Given the description of an element on the screen output the (x, y) to click on. 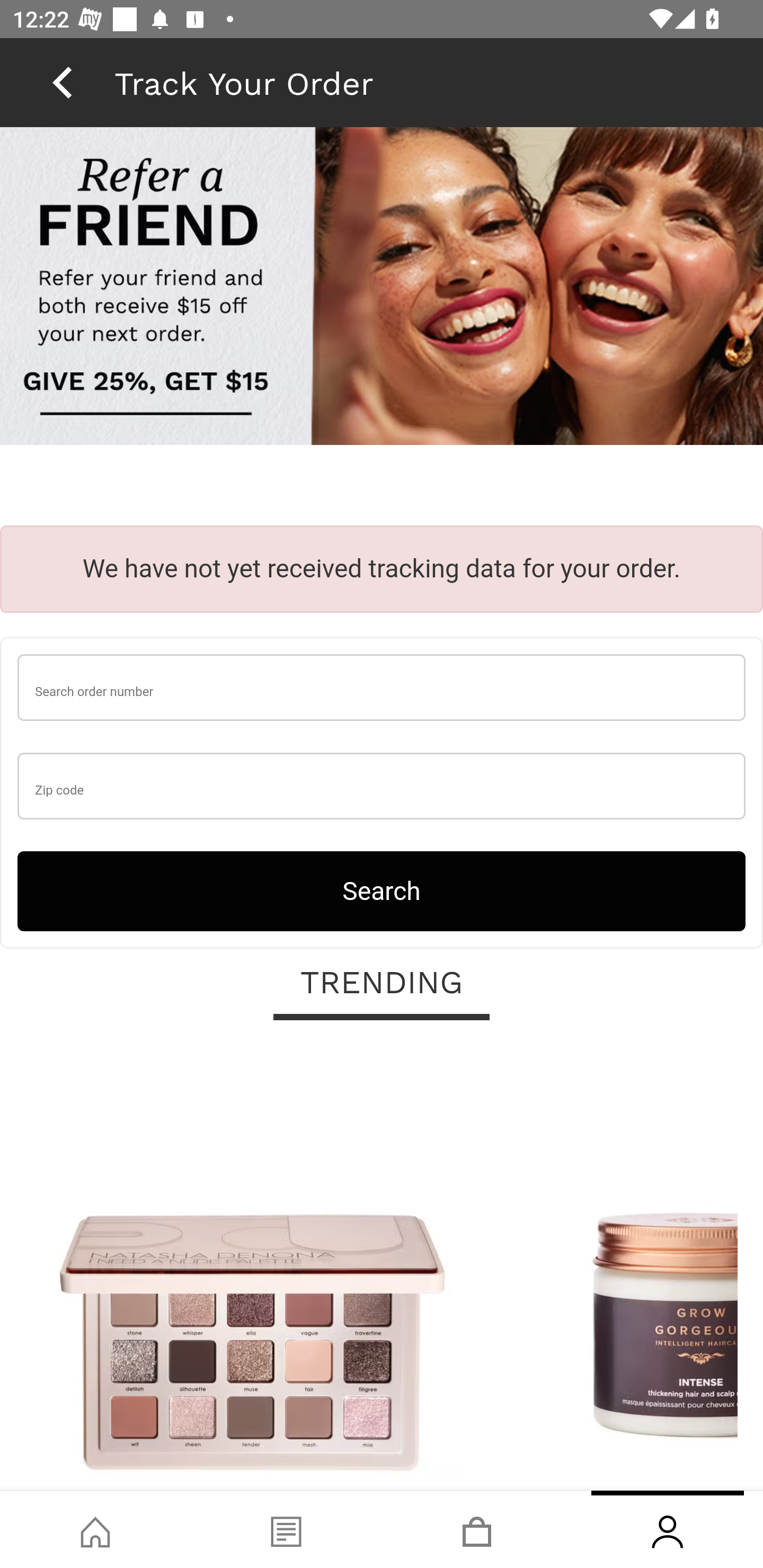
back (61, 82)
raf (381, 288)
Search (381, 890)
TRENDING (381, 983)
Natasha Denona I Need A Nude Palette (252, 1266)
Shop, tab, 1 of 4 (95, 1529)
Blog, tab, 2 of 4 (285, 1529)
Basket, tab, 3 of 4 (476, 1529)
Account, tab, 4 of 4 (667, 1529)
